Given the description of an element on the screen output the (x, y) to click on. 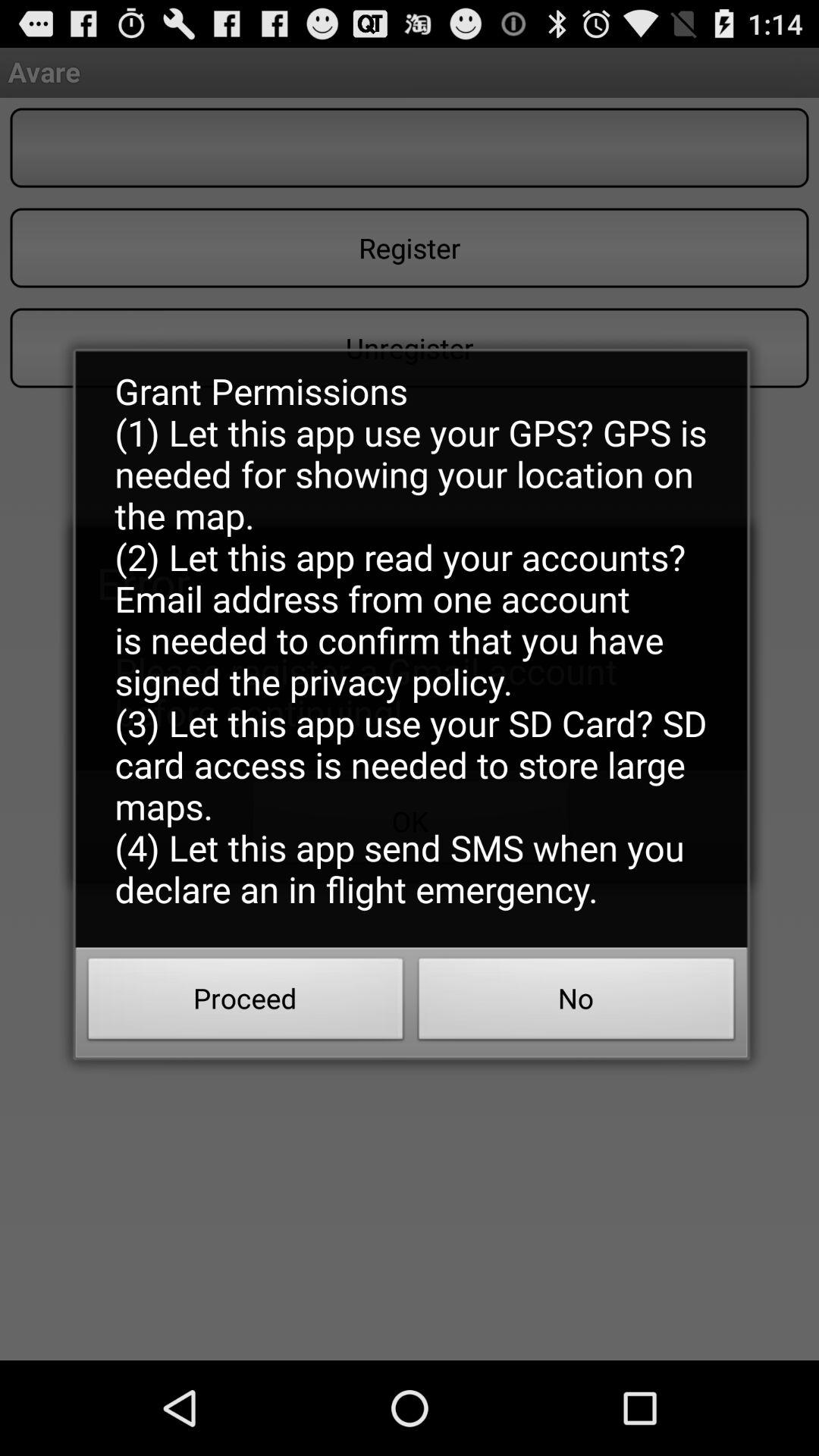
select the item at the bottom right corner (576, 1003)
